Given the description of an element on the screen output the (x, y) to click on. 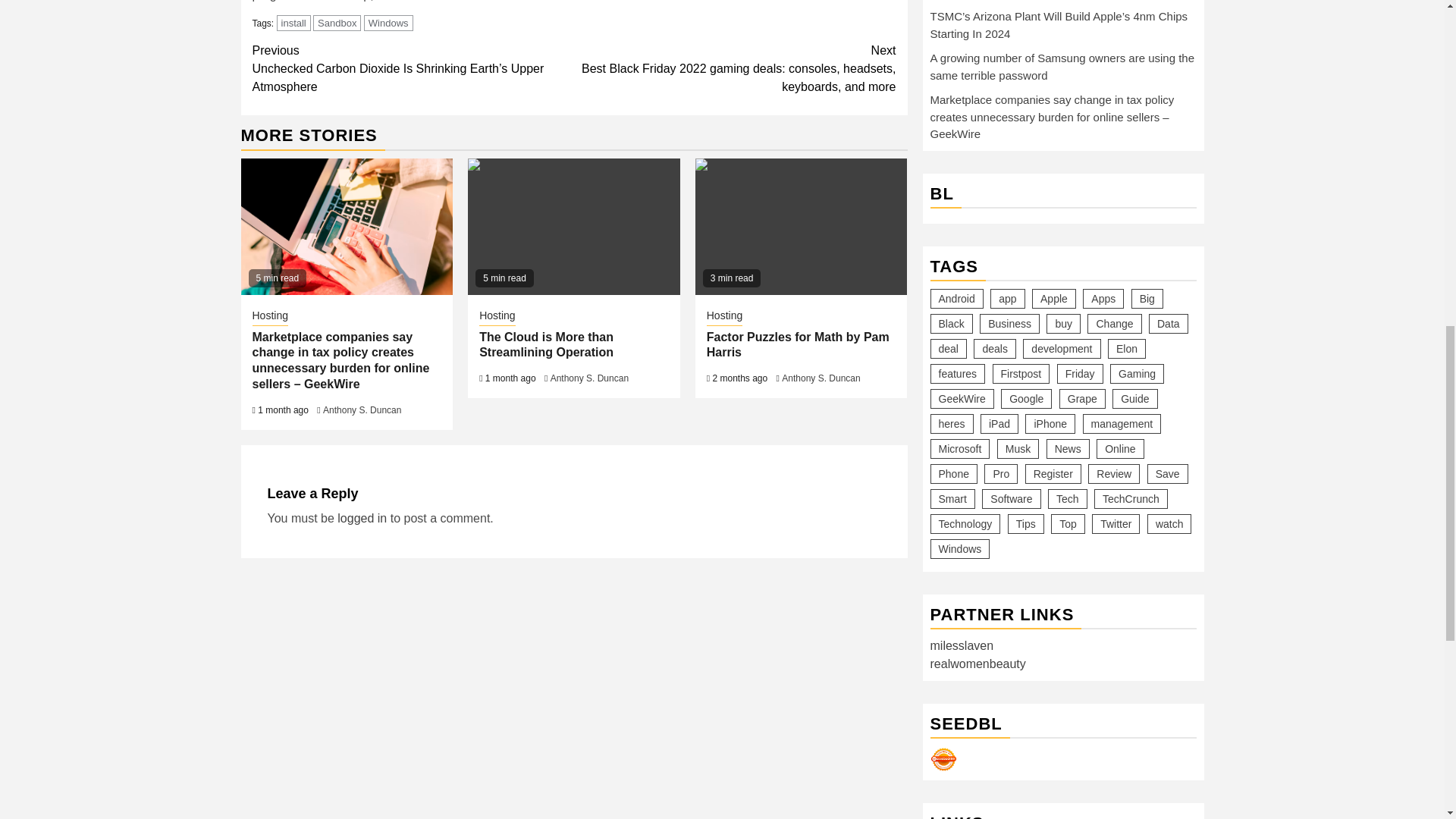
Sandbox (337, 23)
install (293, 23)
Hosting (268, 316)
Windows (388, 23)
The Cloud is More than Streamlining Operation (573, 226)
Hosting (497, 316)
Anthony S. Duncan (362, 409)
The Cloud is More than Streamlining Operation (545, 344)
Factor Puzzles for Math by Pam Harris (797, 344)
